Given the description of an element on the screen output the (x, y) to click on. 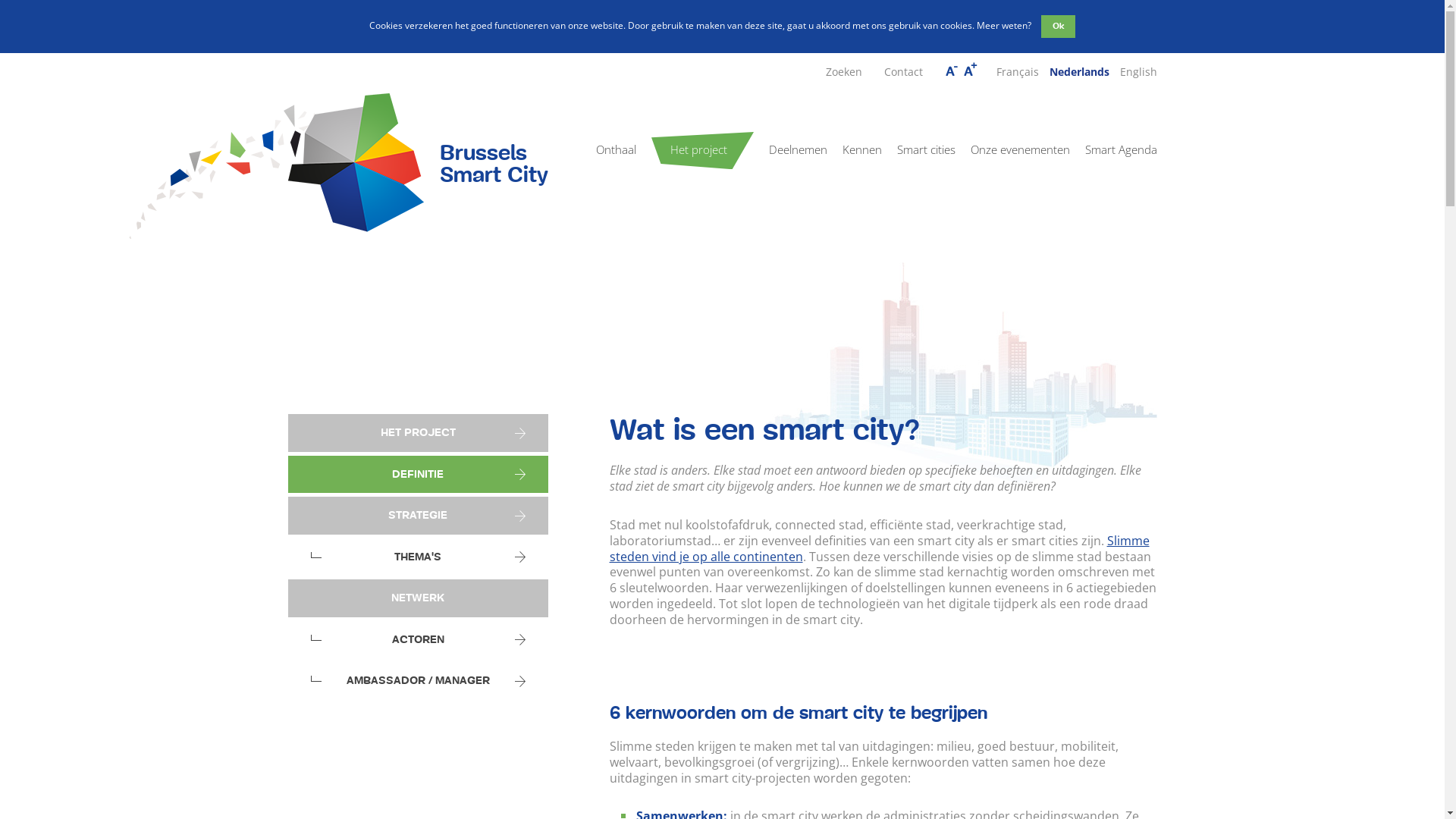
Brussels
Smart City Element type: text (418, 162)
Contact Element type: text (903, 71)
DEFINITIE Element type: text (418, 474)
Nederlands Element type: text (1079, 71)
Smart cities Element type: text (925, 148)
AMBASSADOR / MANAGER Element type: text (418, 680)
Slimme steden vind je op alle continenten Element type: text (879, 548)
Het project Element type: text (698, 148)
HET PROJECT Element type: text (418, 432)
Onze evenementen Element type: text (1020, 148)
Kennen Element type: text (861, 148)
Smart Agenda Element type: text (1120, 148)
ACTOREN Element type: text (418, 639)
English Element type: text (1137, 71)
STRATEGIE Element type: text (418, 515)
Meer weten? Element type: text (1003, 24)
Ok Element type: text (1058, 26)
Zoeken Element type: text (843, 71)
THEMA'S Element type: text (418, 557)
Deelnemen Element type: text (797, 148)
Onthaal Element type: text (616, 148)
